Given the description of an element on the screen output the (x, y) to click on. 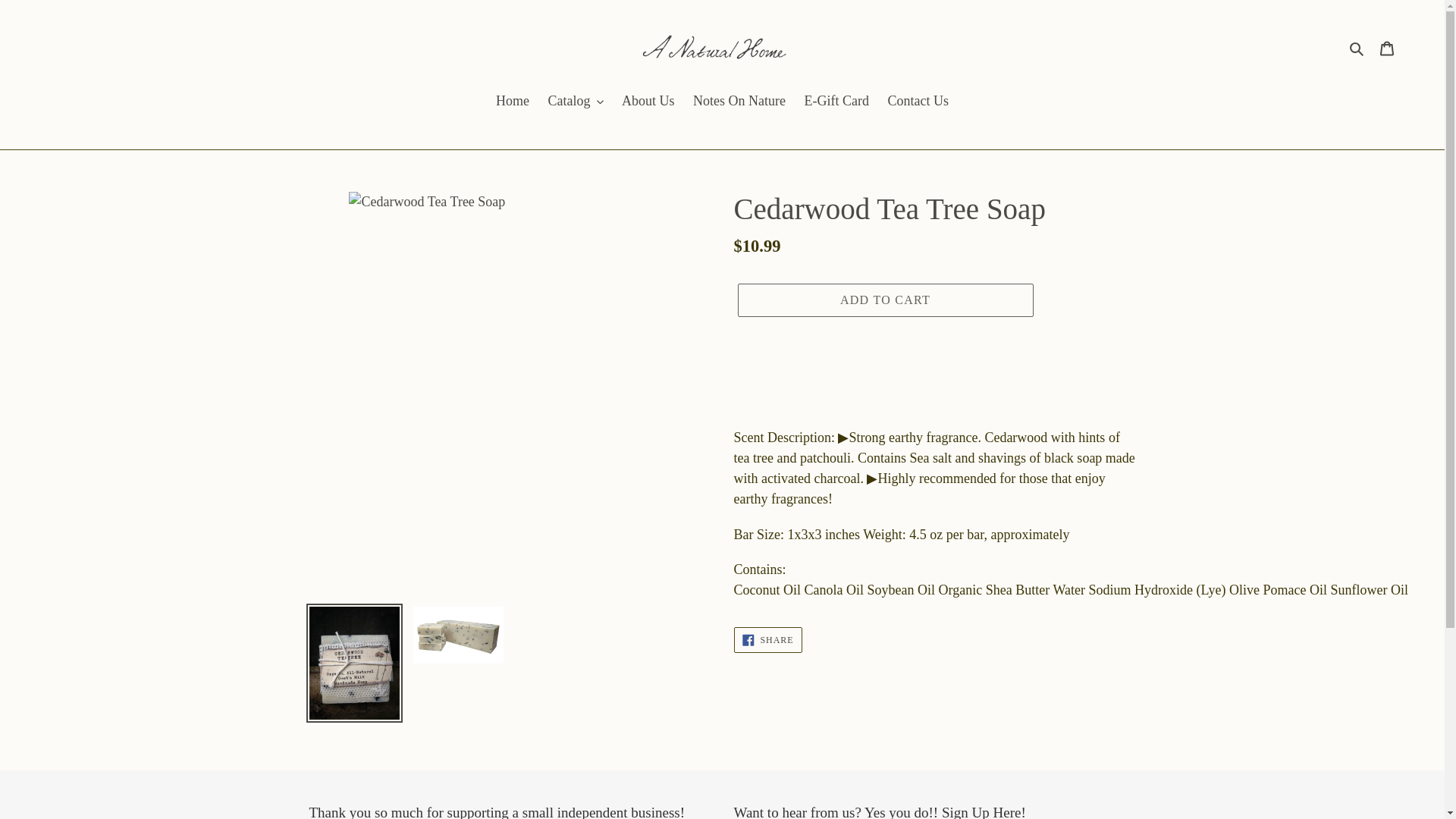
Cart (1387, 47)
Search (1357, 47)
Catalog (575, 101)
Home (512, 101)
